Given the description of an element on the screen output the (x, y) to click on. 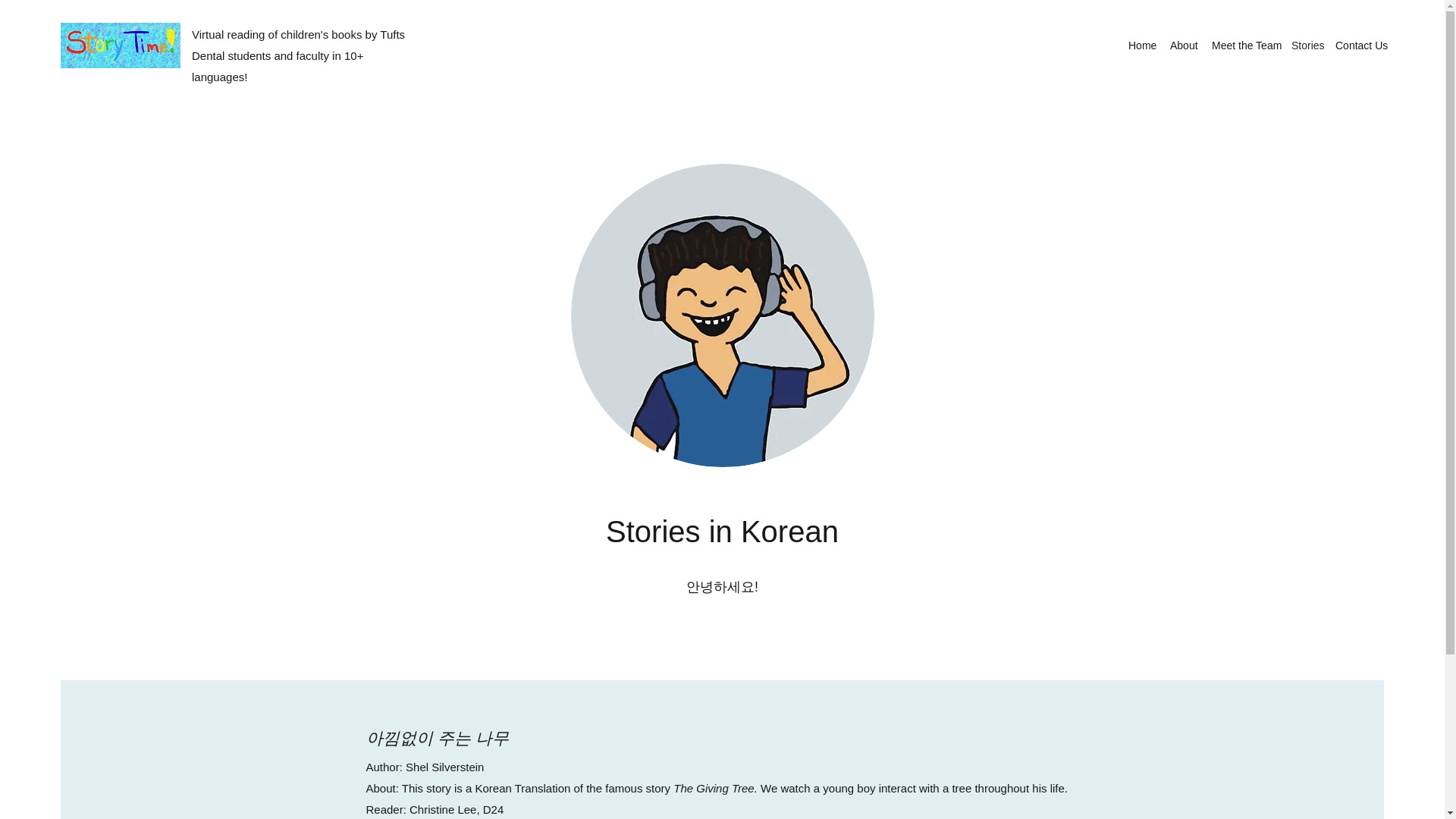
About (1182, 45)
Contact Us (1359, 45)
Meet the Team (1244, 45)
Stories (1305, 45)
Home (1141, 45)
